Given the description of an element on the screen output the (x, y) to click on. 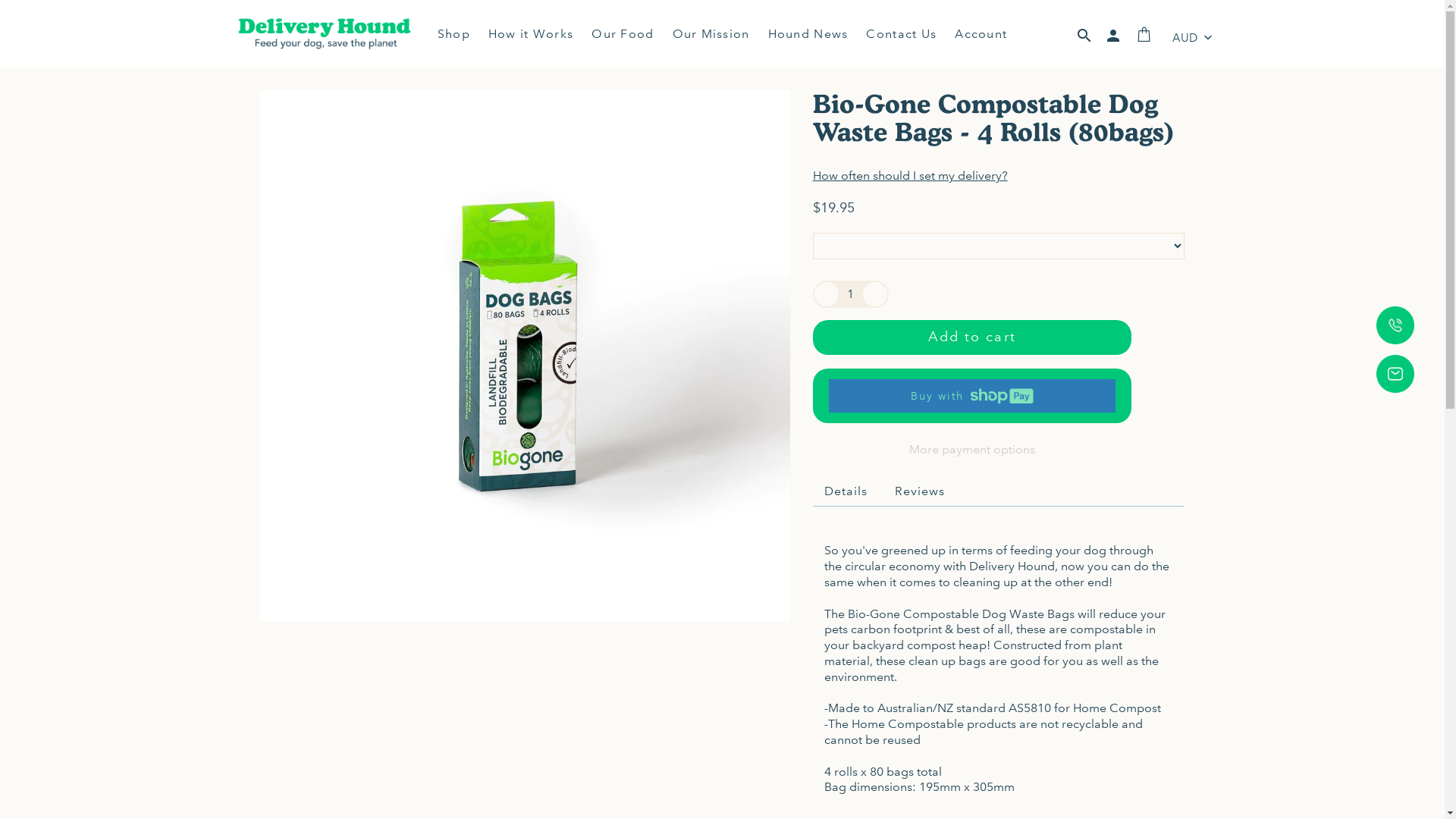
Our Mission Element type: text (711, 33)
More payment options Element type: text (971, 449)
Details Element type: text (845, 490)
Reviews Element type: text (919, 490)
How it Works Element type: text (530, 33)
person Element type: text (1113, 37)
My cart Element type: hover (1144, 37)
Contact Us Element type: text (901, 33)
Our Food Element type: text (622, 33)
Account Element type: text (977, 33)
search Element type: text (1084, 37)
Hound News Element type: text (808, 33)
Bio-Gone Compostable Dog Waste Bags - 4 Rolls (80bags) Element type: hover (524, 355)
Shop Element type: text (457, 33)
Add to cart Element type: text (971, 337)
